Given the description of an element on the screen output the (x, y) to click on. 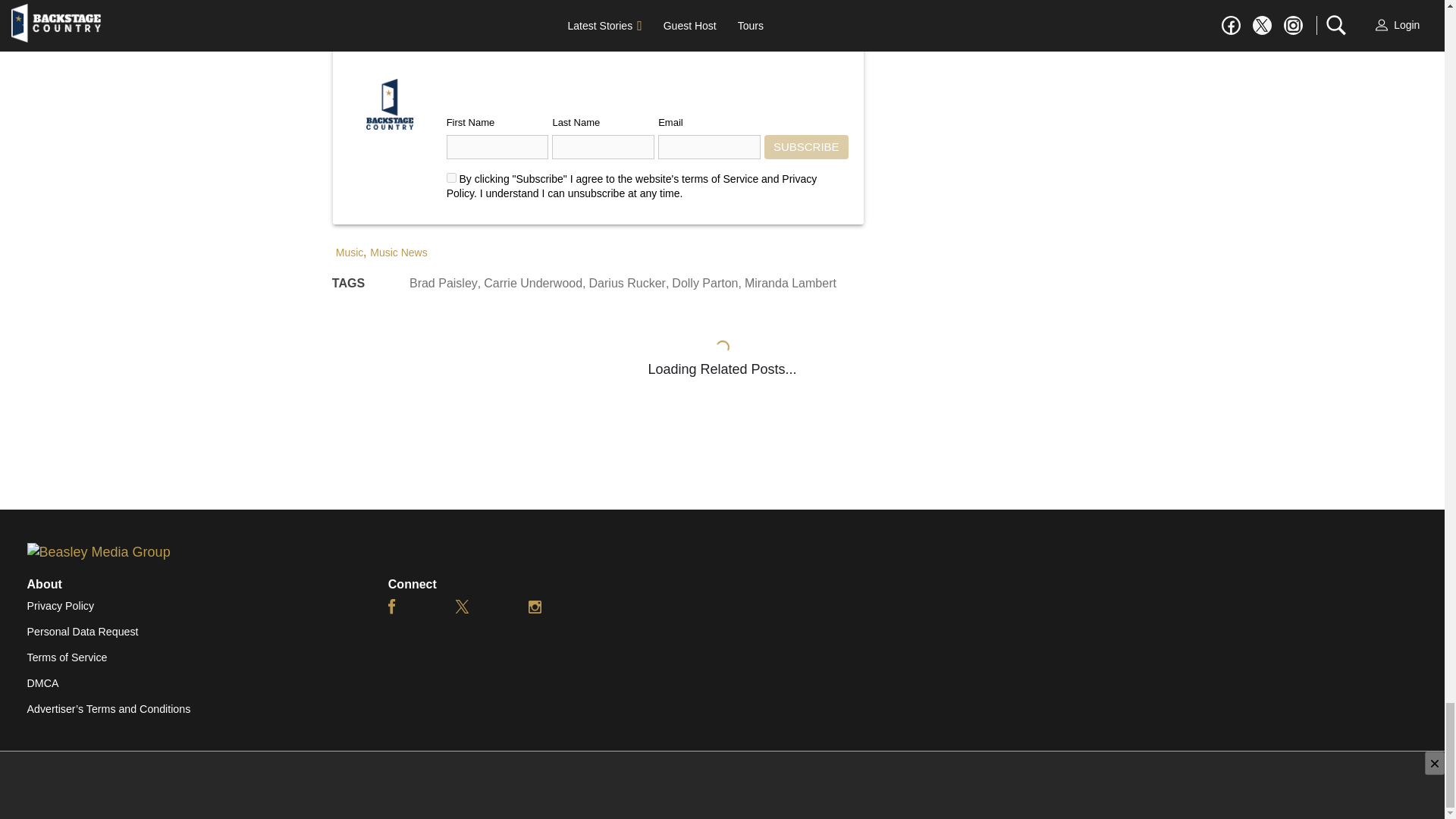
Instagram (534, 606)
on (451, 177)
Twitter (462, 606)
